Given the description of an element on the screen output the (x, y) to click on. 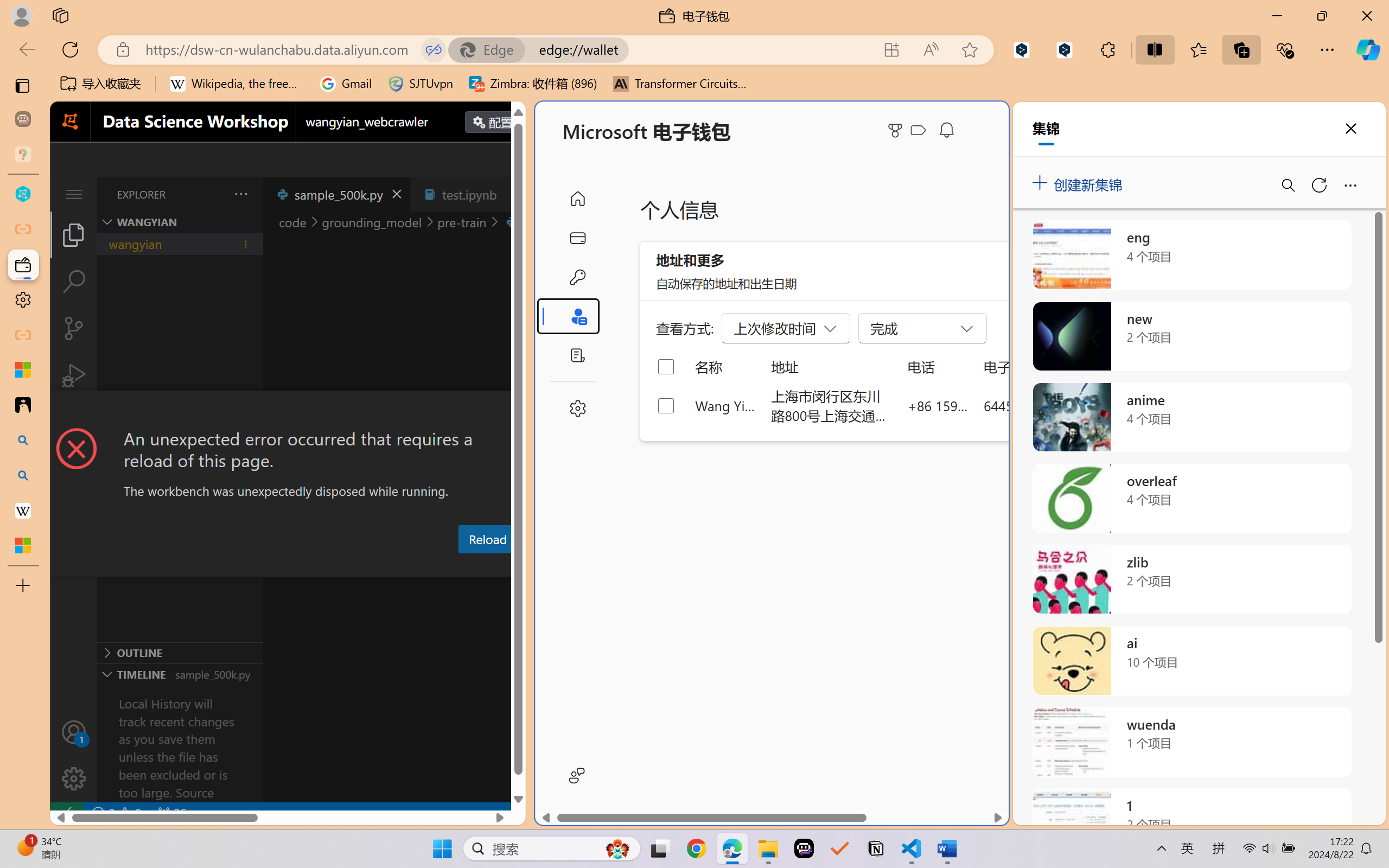
Outline Section (179, 652)
SJTUvpn (419, 83)
644553698@qq.com (1043, 405)
Terminal (Ctrl+`) (553, 565)
wangyian_dsw - DSW (22, 194)
Earth - Wikipedia (22, 510)
